Given the description of an element on the screen output the (x, y) to click on. 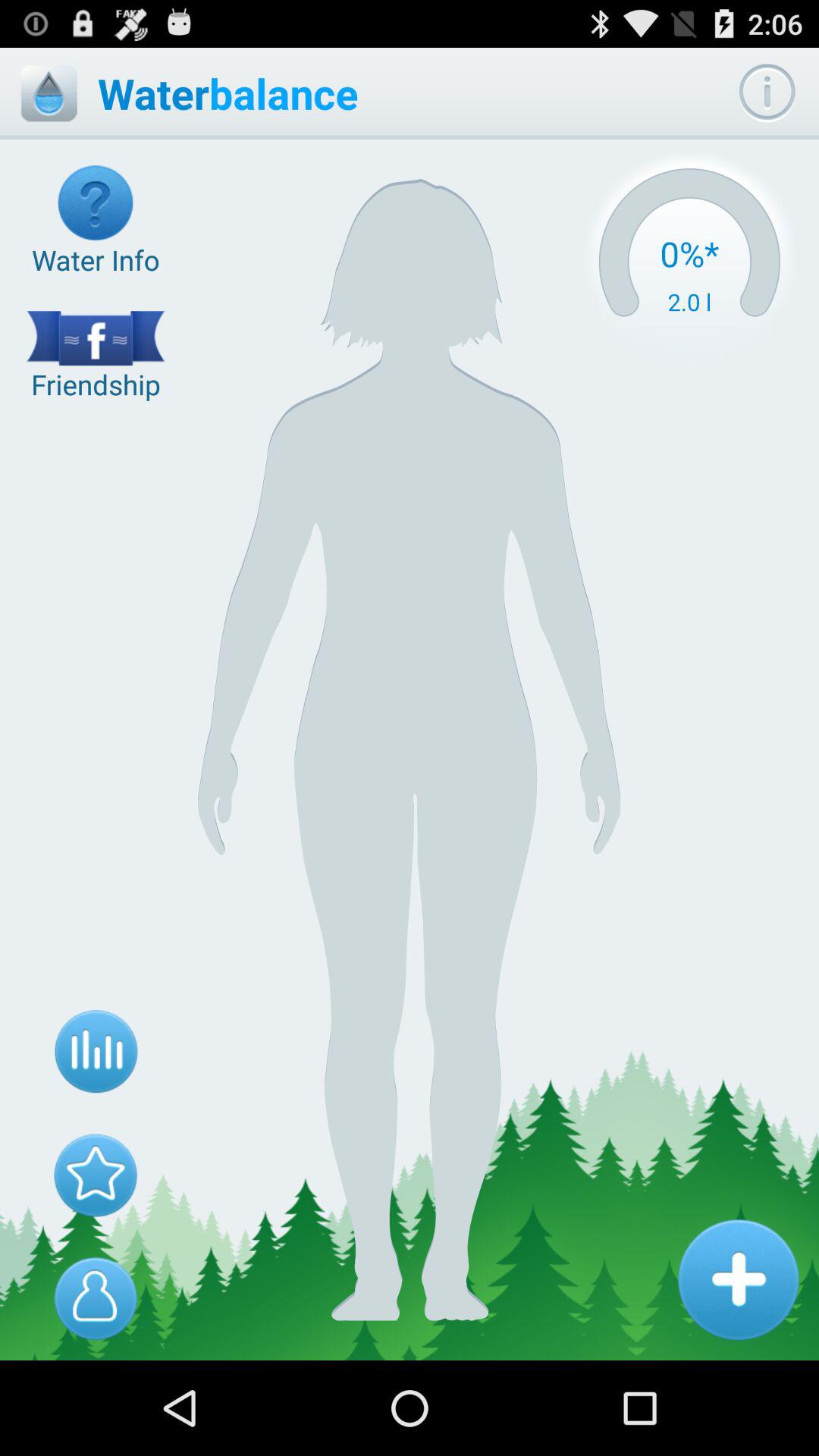
select favorite (95, 1175)
